Given the description of an element on the screen output the (x, y) to click on. 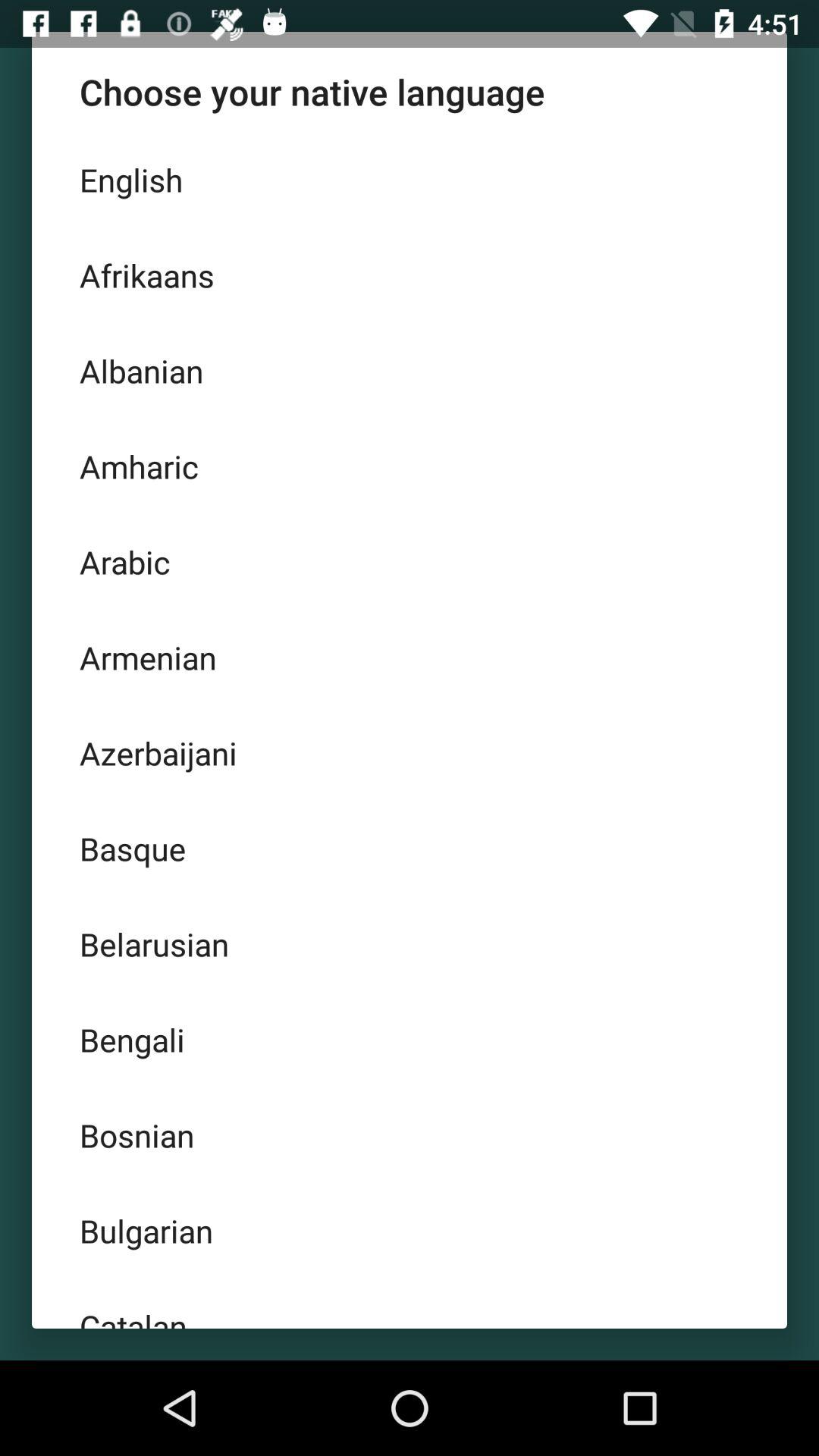
tap the icon above the bulgarian (409, 1135)
